Given the description of an element on the screen output the (x, y) to click on. 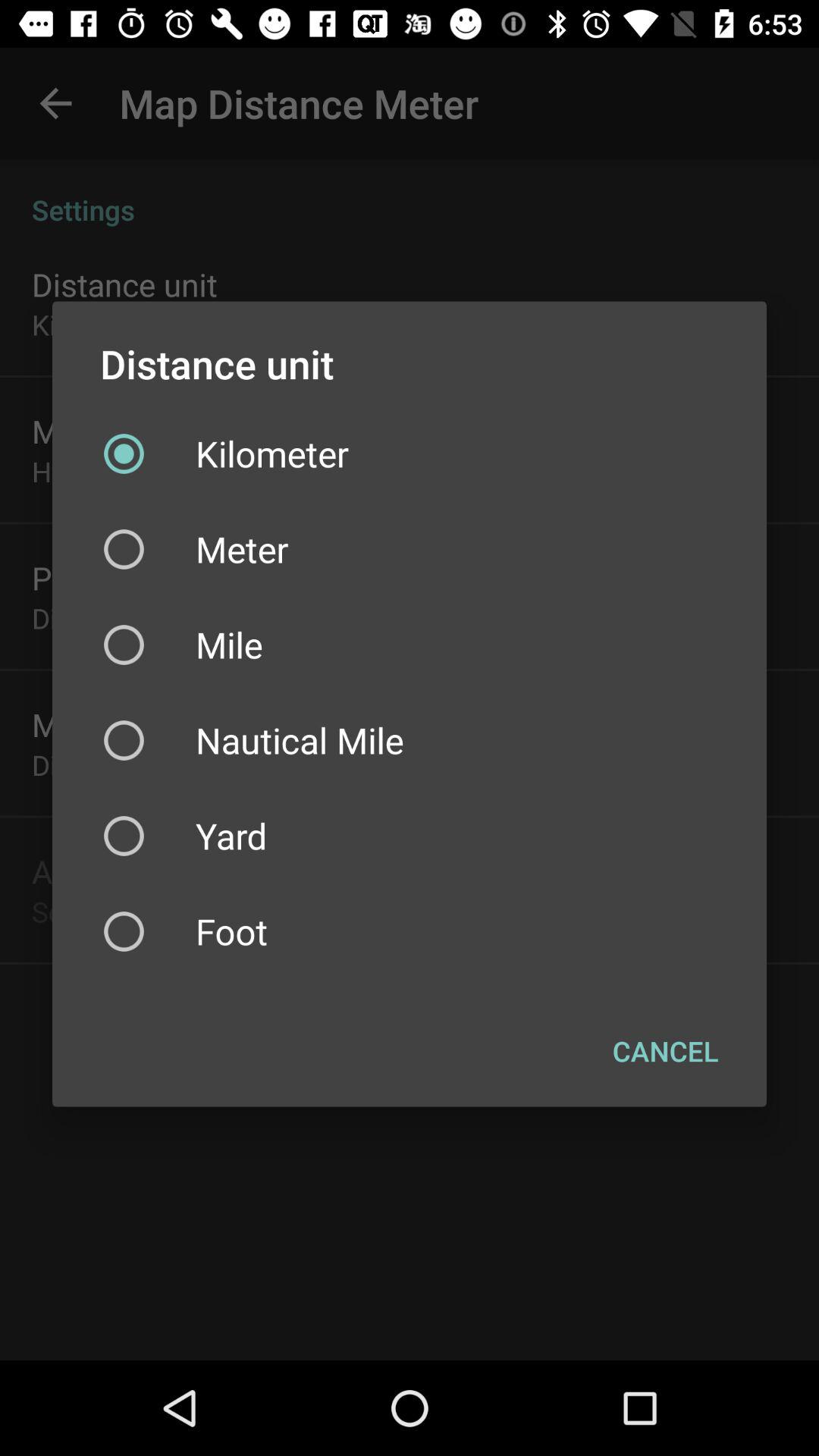
swipe to the cancel item (665, 1050)
